Given the description of an element on the screen output the (x, y) to click on. 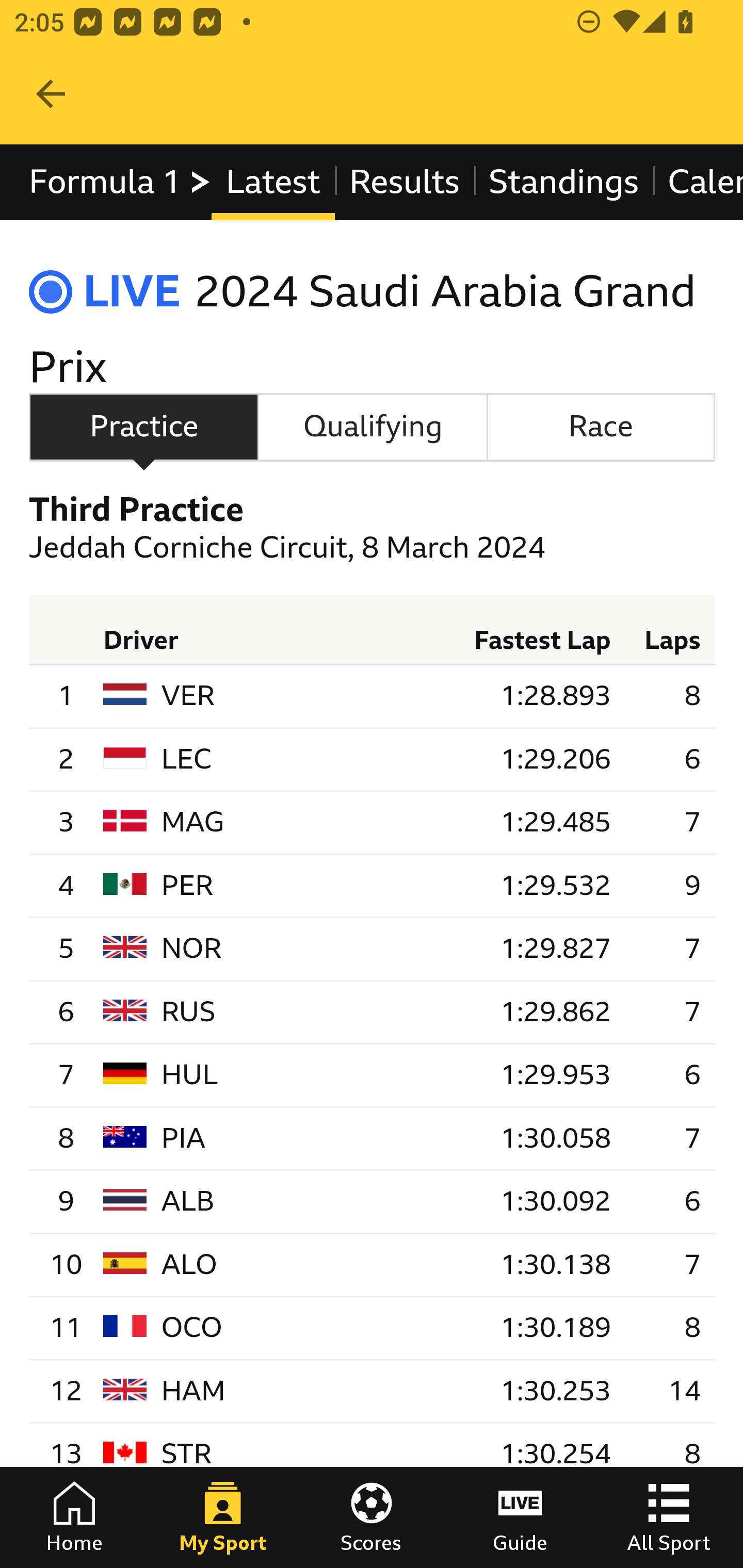
Navigate up (50, 93)
Formula 1  (120, 181)
Latest (272, 181)
Results (403, 181)
Standings (564, 181)
Practice (142, 426)
Qualifying (372, 426)
Race (600, 426)
Home (74, 1517)
Scores (371, 1517)
Guide (519, 1517)
All Sport (668, 1517)
